Given the description of an element on the screen output the (x, y) to click on. 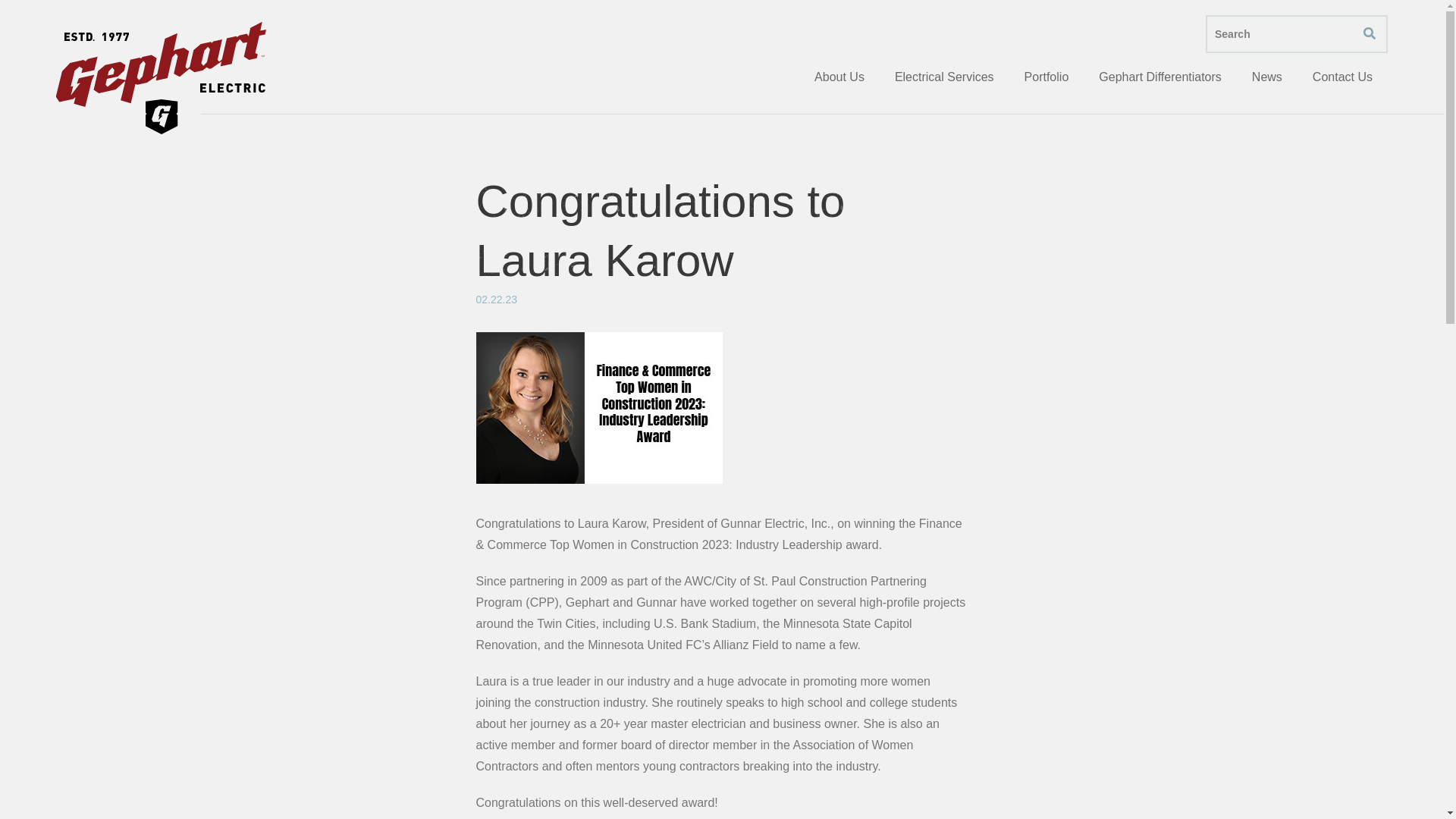
Gephart Differentiators (1159, 83)
Electrical Services (944, 83)
Search for: (1296, 34)
News (1266, 83)
Gephart Electric (160, 79)
About Us (839, 83)
Portfolio (1046, 83)
Laura Karow Award Winner (599, 419)
Contact Us (1342, 83)
